Given the description of an element on the screen output the (x, y) to click on. 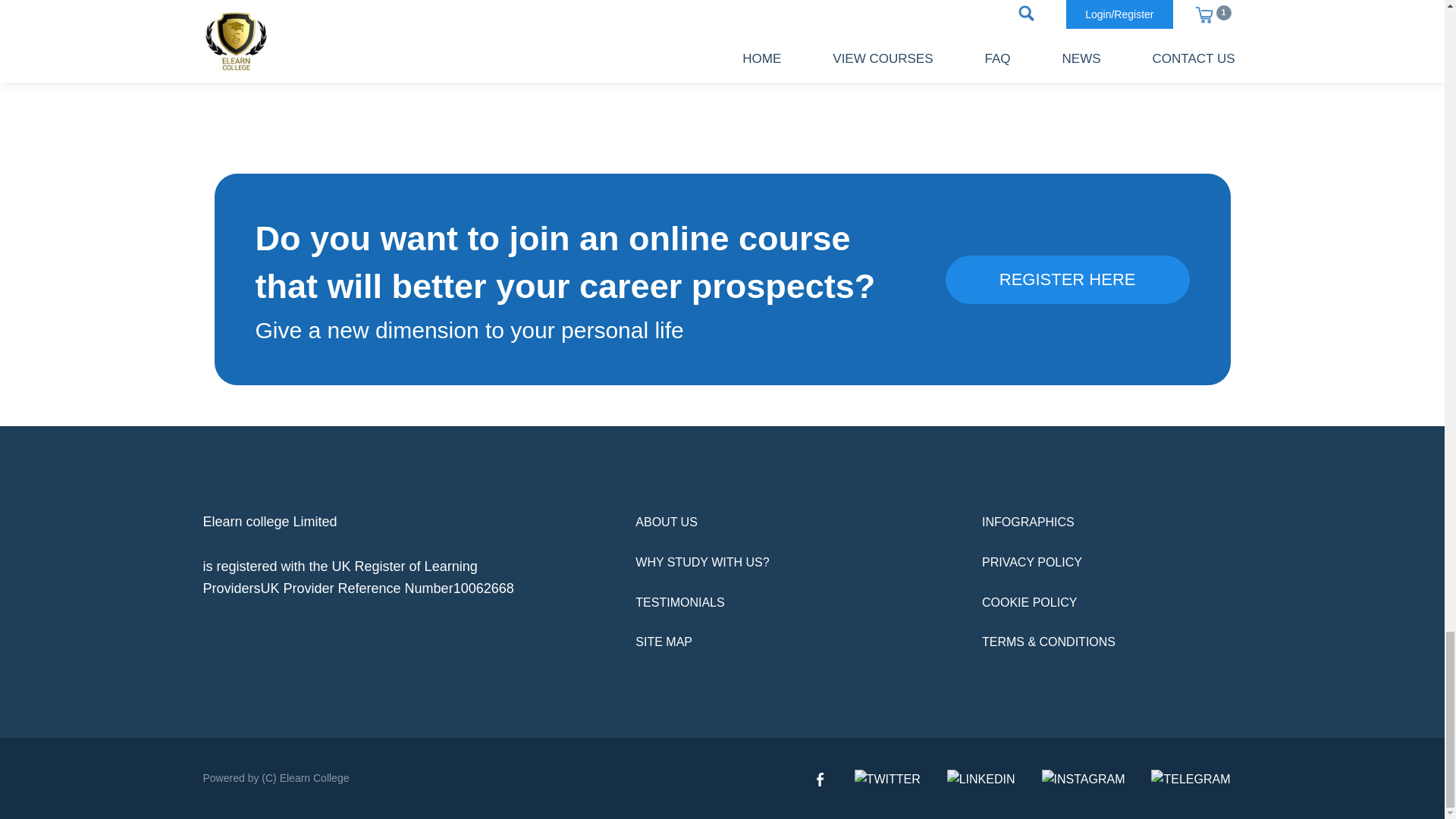
Follow us on Instagram (1083, 778)
Follow us on Linkedin (980, 778)
Follow us on Telegram (1190, 778)
Follow us on Facebook (820, 778)
Follow us on Twitter (887, 778)
